Given the description of an element on the screen output the (x, y) to click on. 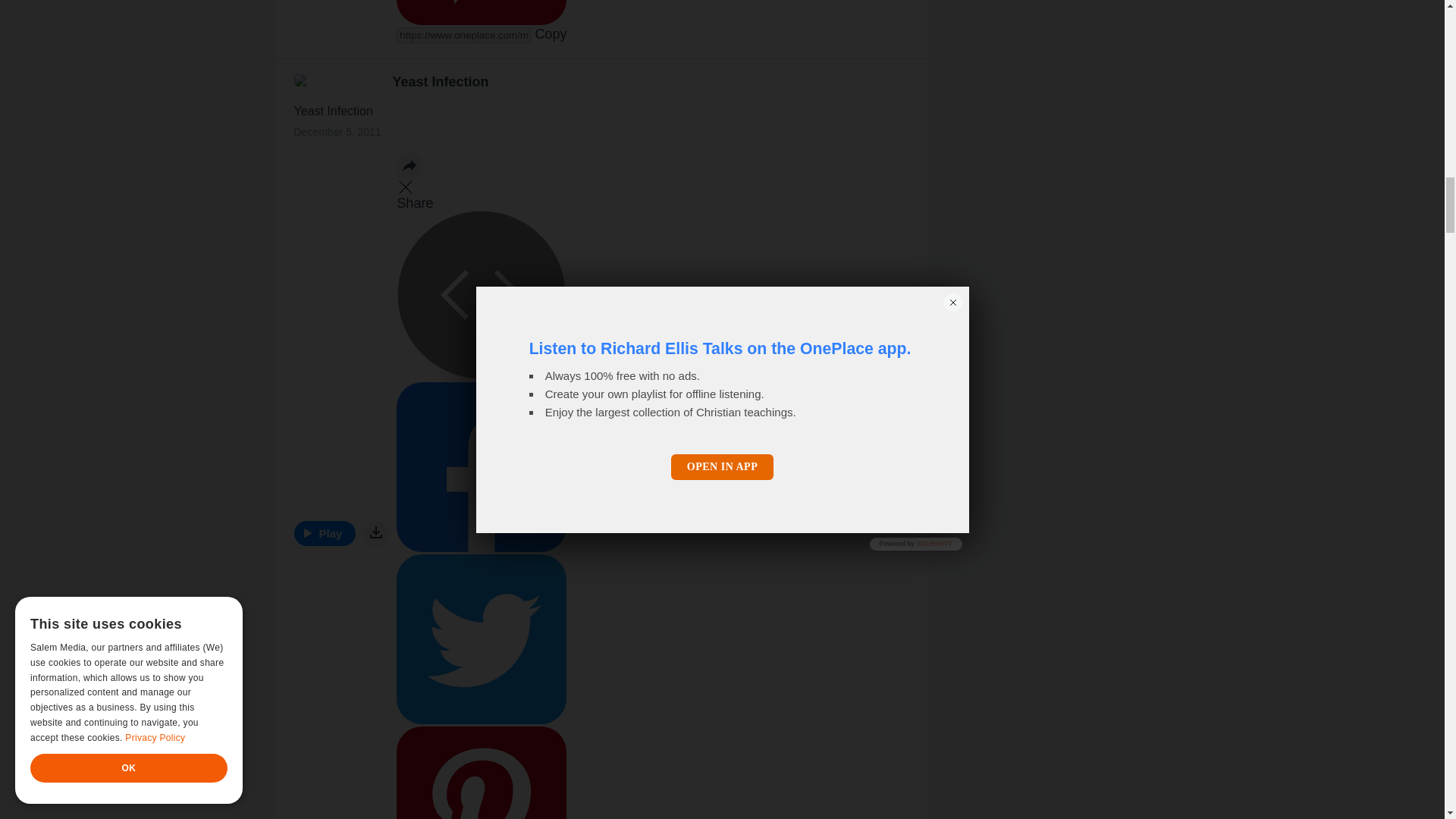
Play (325, 533)
Yeast Infection (441, 81)
